Given the description of an element on the screen output the (x, y) to click on. 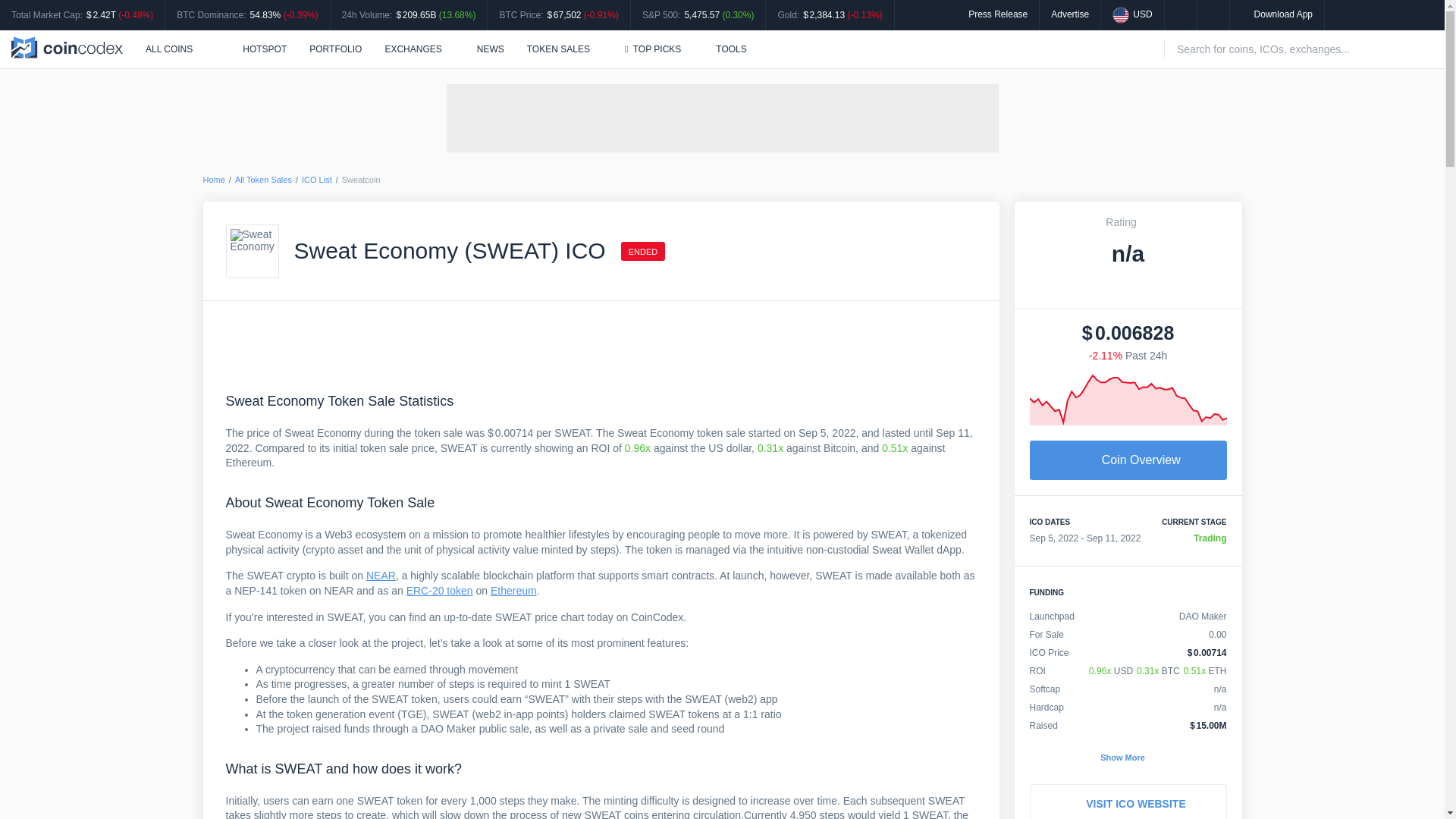
All Token Sales (263, 179)
Advertise (1070, 14)
Ethereum (513, 590)
PORTFOLIO (335, 48)
HOTSPOT (256, 48)
NEAR (381, 575)
ICO List (316, 179)
Home (214, 179)
ERC-20 token (439, 590)
Press Release (997, 14)
NEWS (490, 48)
